Given the description of an element on the screen output the (x, y) to click on. 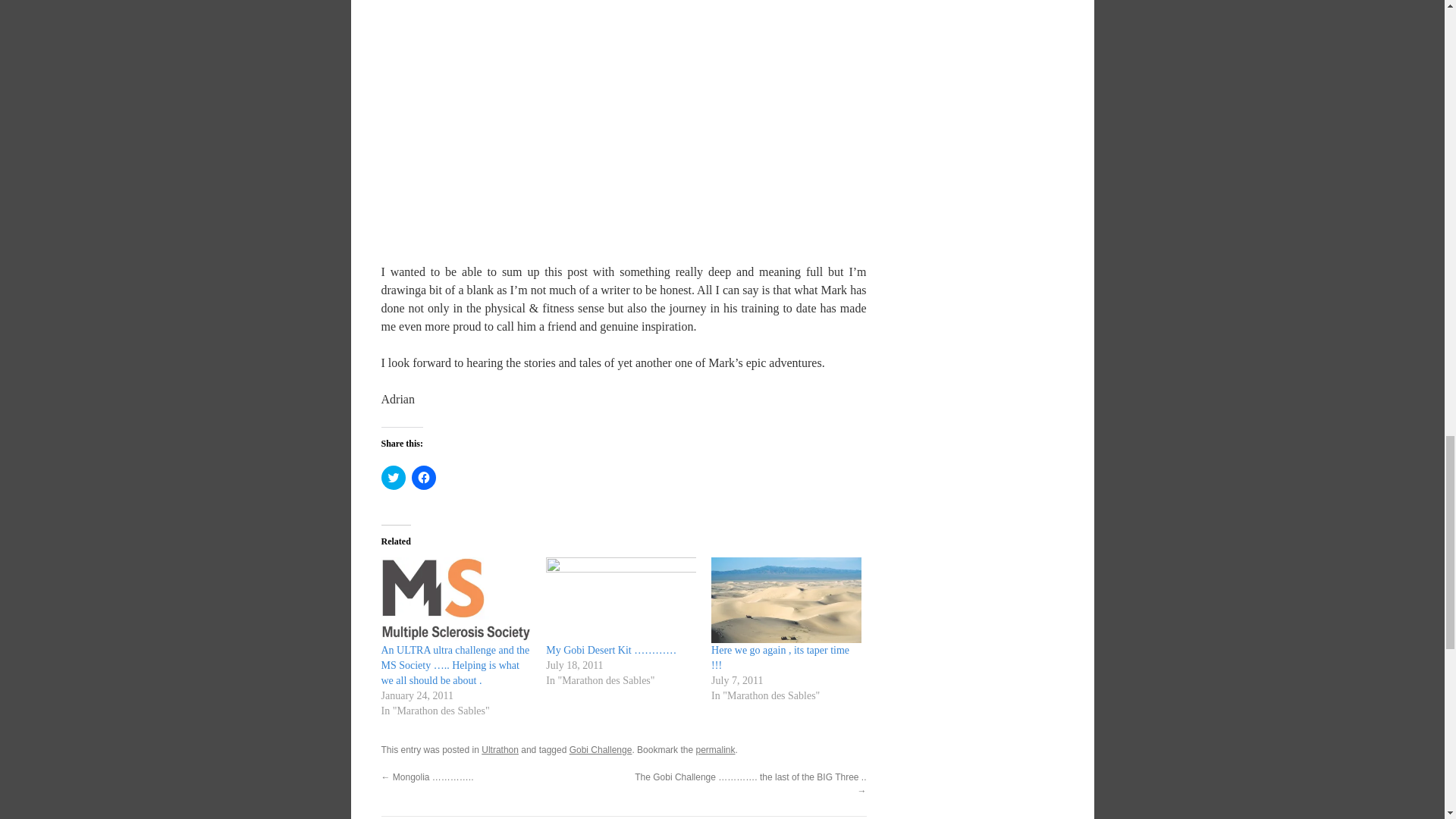
Here we go again , its taper time !!! (786, 599)
permalink (715, 749)
Here we go again , its taper time !!! (779, 657)
Click to share on Twitter (392, 477)
Gobi Challenge (600, 749)
Click to share on Facebook (422, 477)
Here we go again , its taper time !!! (779, 657)
Ultrathon (499, 749)
